Given the description of an element on the screen output the (x, y) to click on. 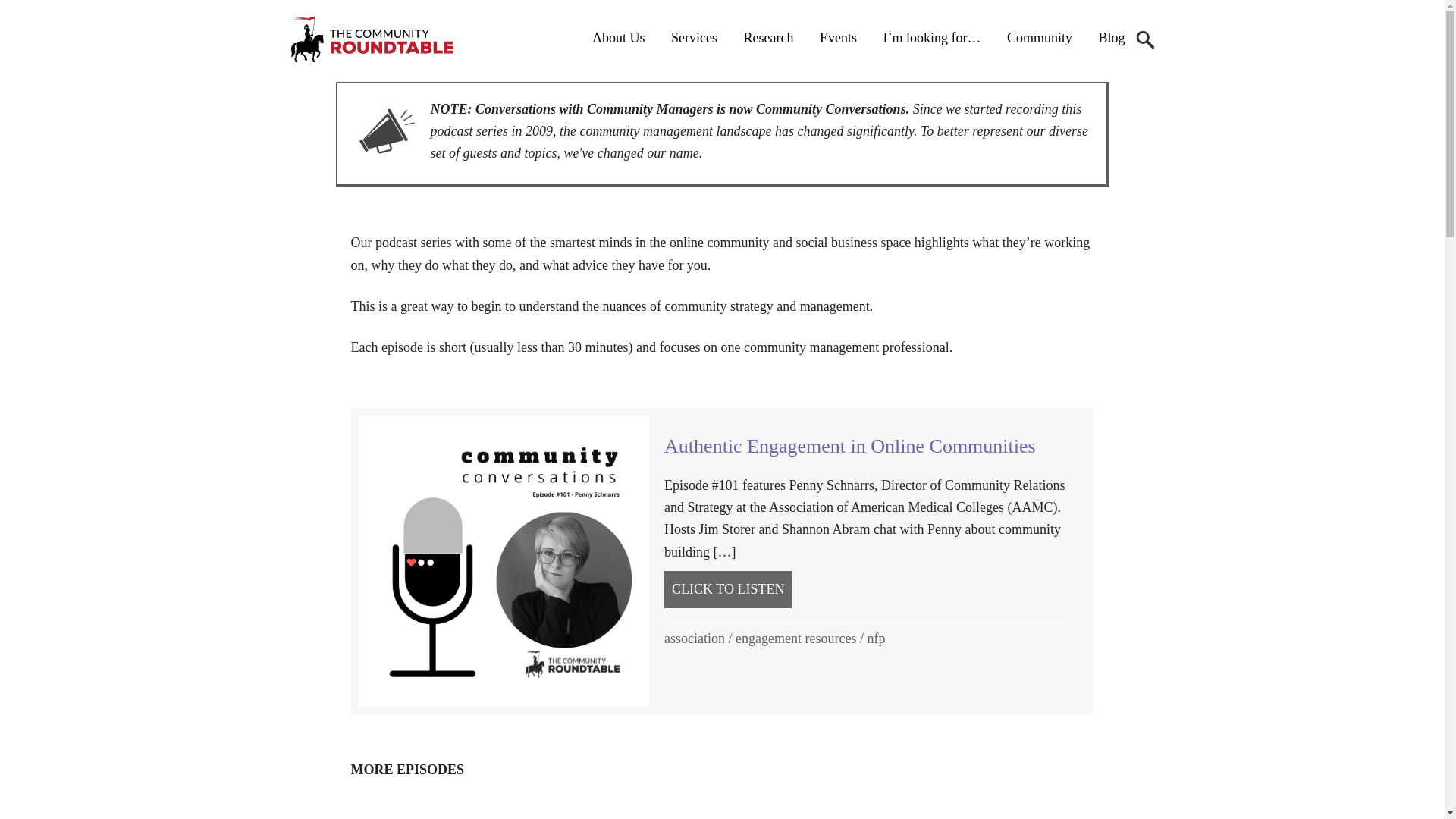
Search (1144, 39)
Search (1144, 39)
Authentic Engagement in Online Communities (849, 445)
Services (694, 37)
Research (768, 37)
The Community Roundtable (384, 38)
Authentic Engagement in Online Communities (727, 589)
About Us (618, 37)
Events (837, 37)
